Given the description of an element on the screen output the (x, y) to click on. 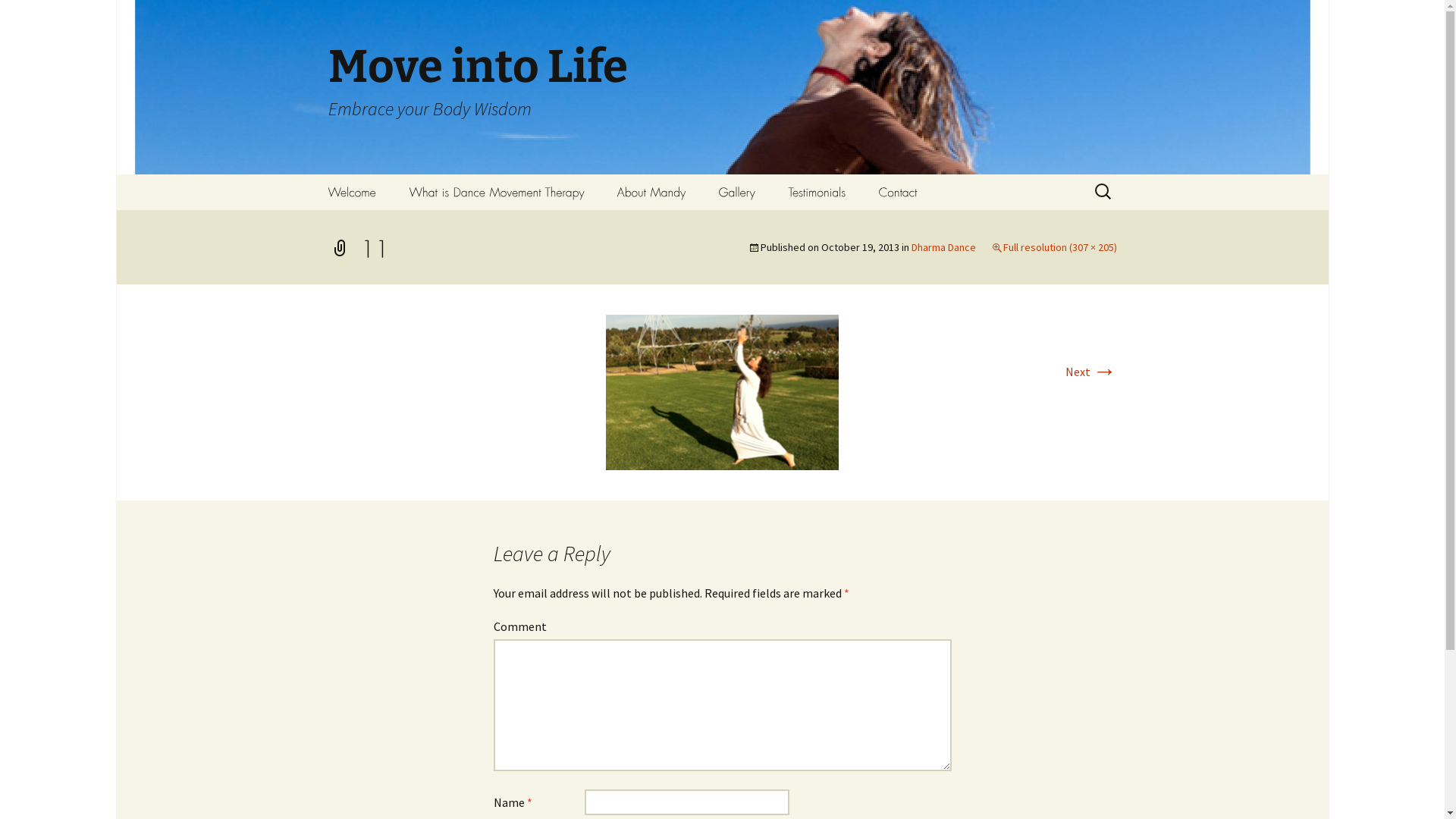
Skip to content Element type: text (352, 183)
11 Element type: hover (721, 390)
Move into Life
Embrace your Body Wisdom Element type: text (721, 87)
Dharma Dance Element type: text (943, 247)
Search Element type: text (18, 16)
